Given the description of an element on the screen output the (x, y) to click on. 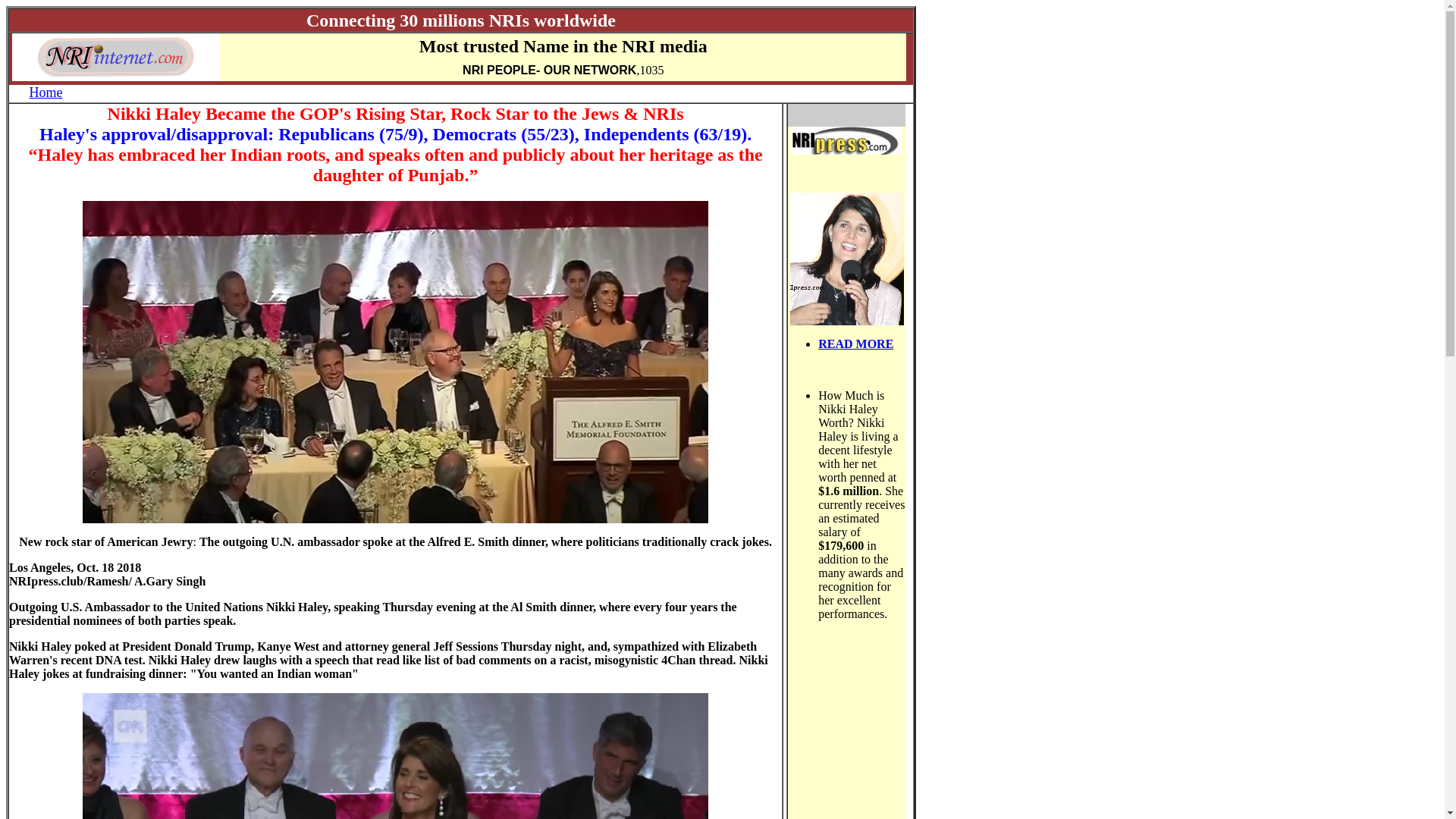
READ MORE (855, 343)
Home (45, 92)
